Given the description of an element on the screen output the (x, y) to click on. 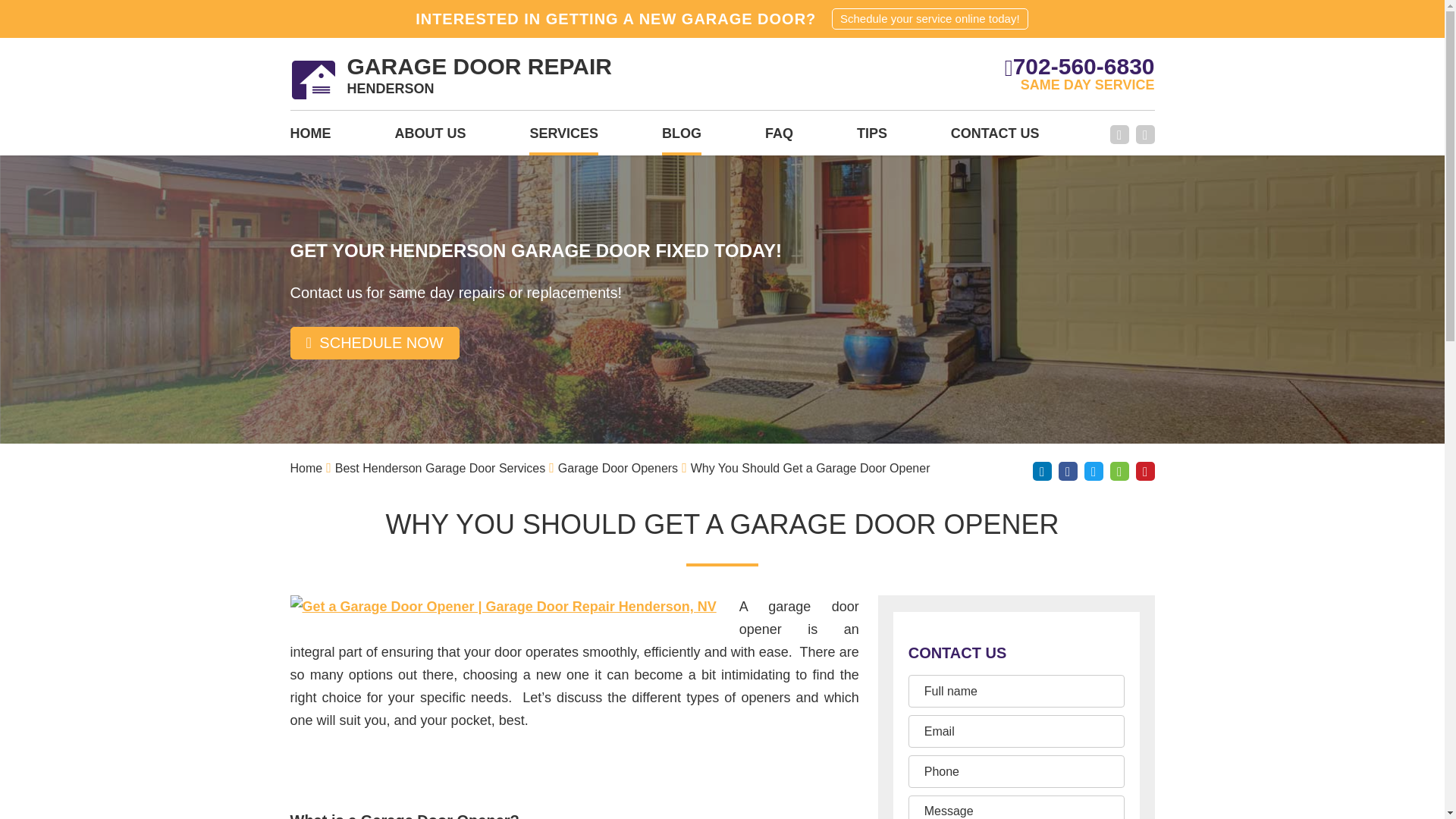
SERVICES (563, 138)
TIPS (871, 138)
Linkedin (1041, 470)
Home (305, 468)
YouTube (450, 79)
HOME (1144, 134)
CONTACT US (309, 138)
Click here to enter Home page (994, 138)
Facebook (305, 468)
